Given the description of an element on the screen output the (x, y) to click on. 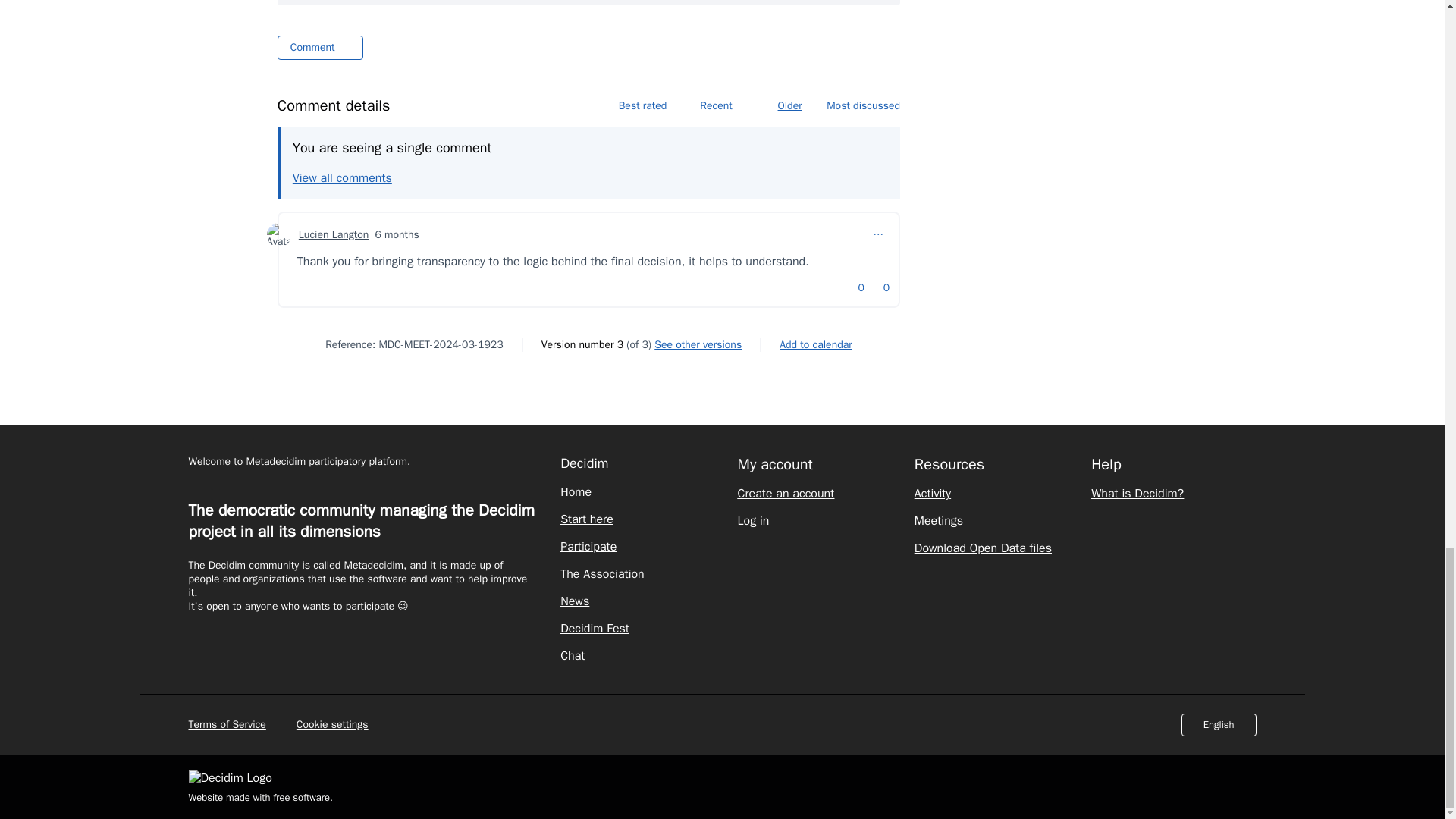
I agree with this comment (853, 287)
I disagree with this comment (878, 287)
Comment (320, 47)
